Given the description of an element on the screen output the (x, y) to click on. 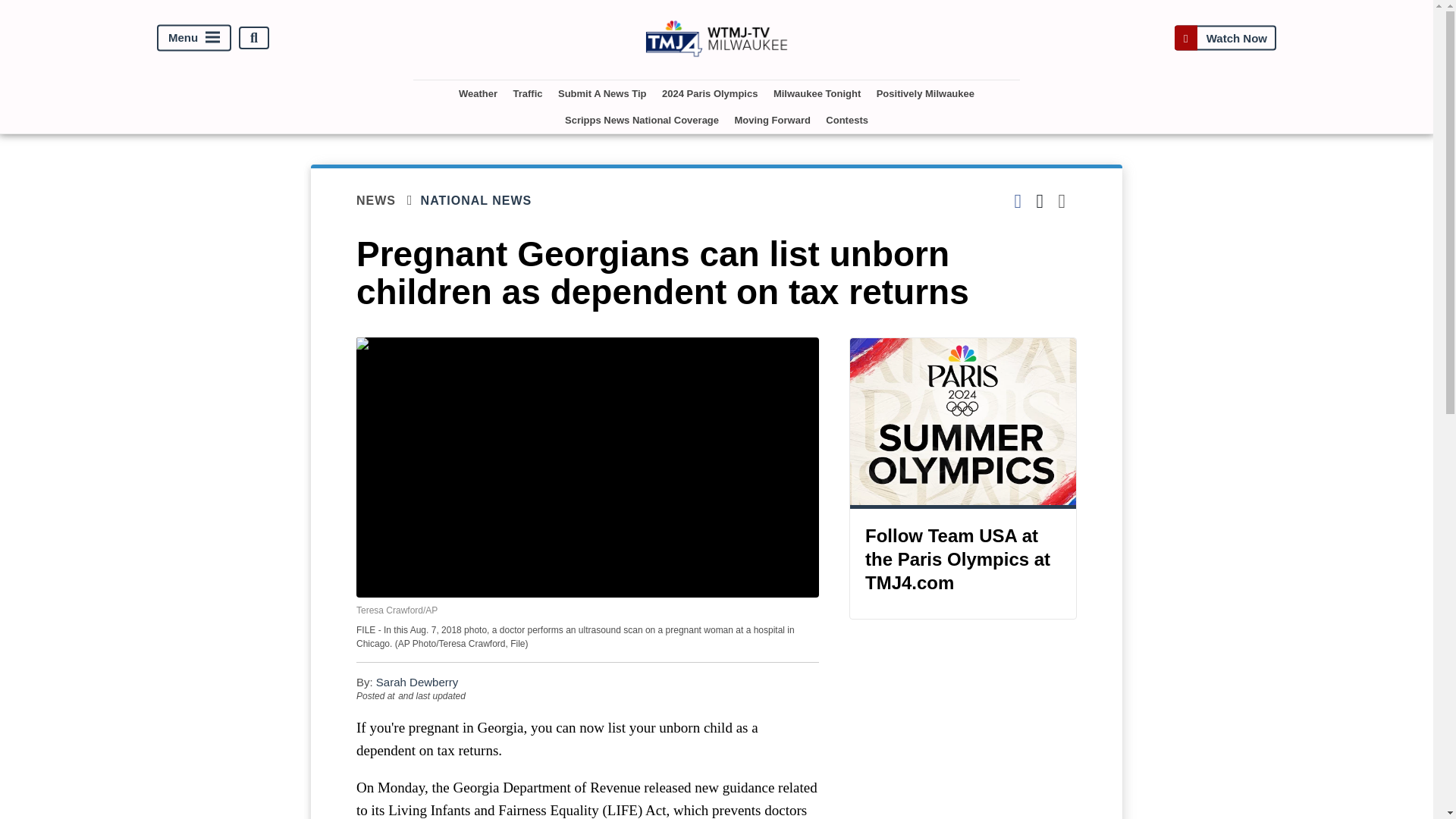
Watch Now (1224, 38)
Menu (194, 38)
